Given the description of an element on the screen output the (x, y) to click on. 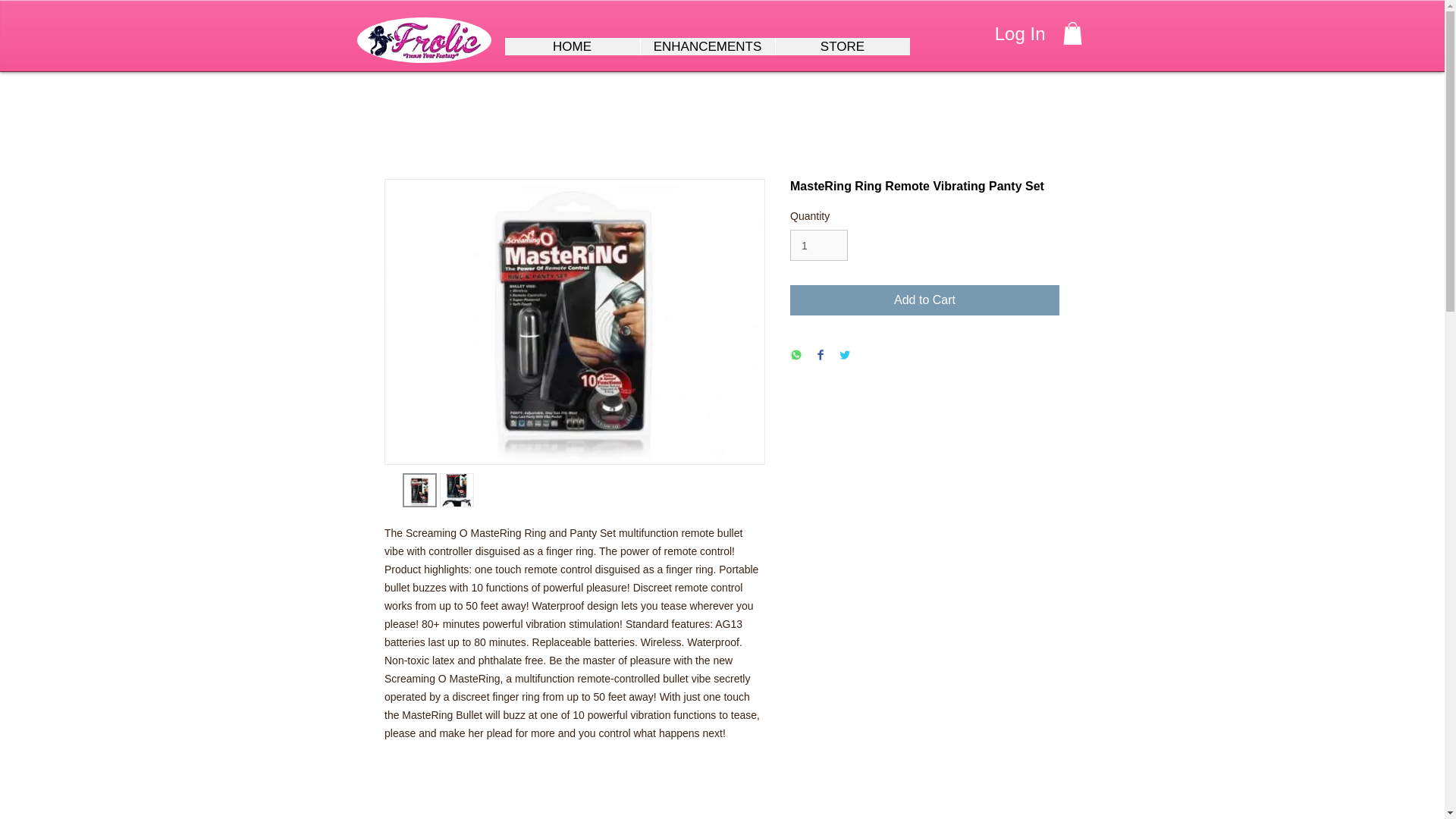
HOME (572, 46)
Add to Cart (924, 300)
Log In (1020, 33)
STORE (842, 46)
1 (818, 245)
ENHANCEMENTS (707, 46)
